Given the description of an element on the screen output the (x, y) to click on. 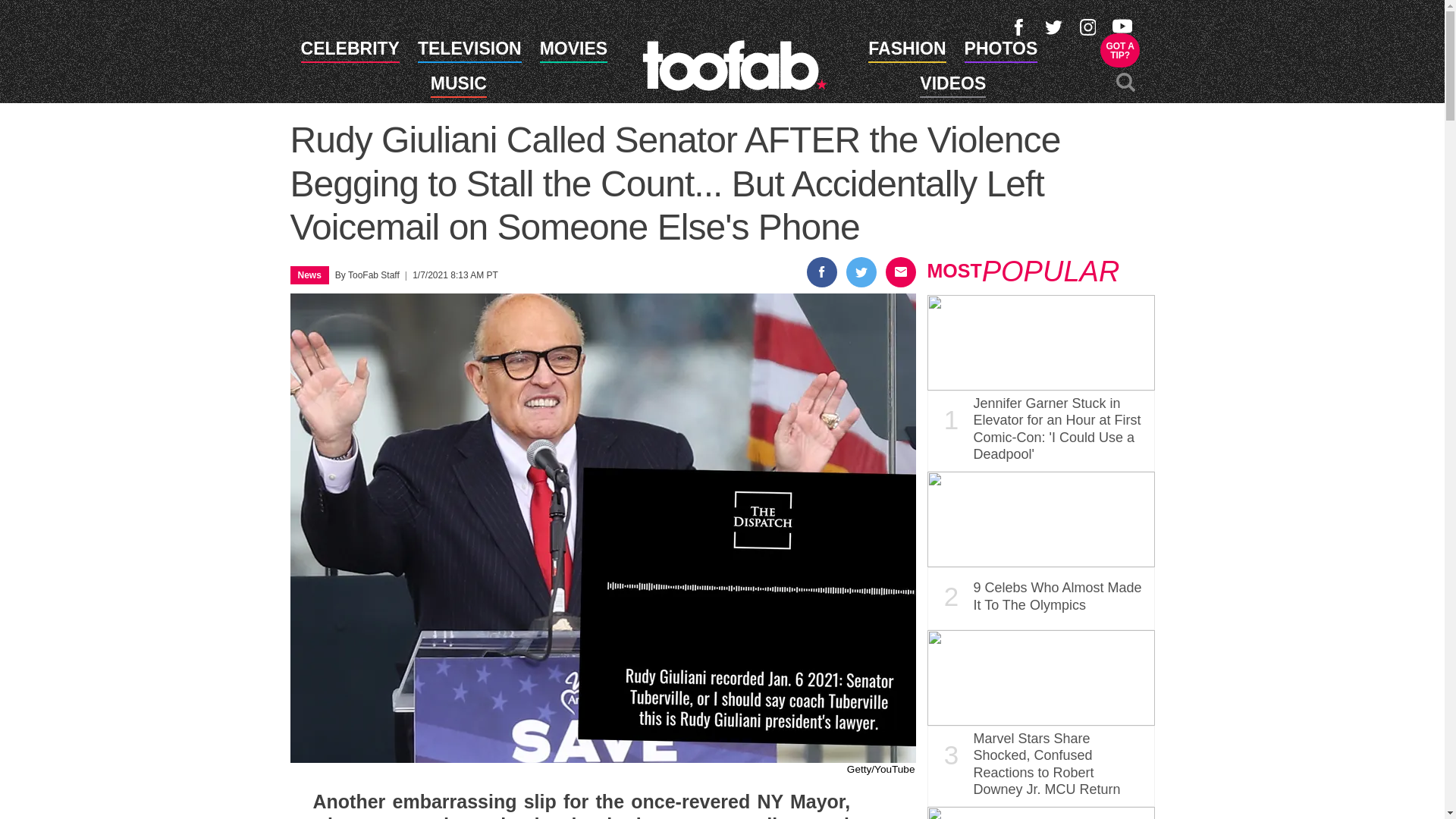
VIDEOS (952, 86)
TELEVISION (469, 51)
CELEBRITY (1120, 50)
toofab (349, 51)
PHOTOS (734, 64)
MUSIC (1000, 51)
MOVIES (458, 86)
FASHION (573, 51)
News (905, 51)
